Given the description of an element on the screen output the (x, y) to click on. 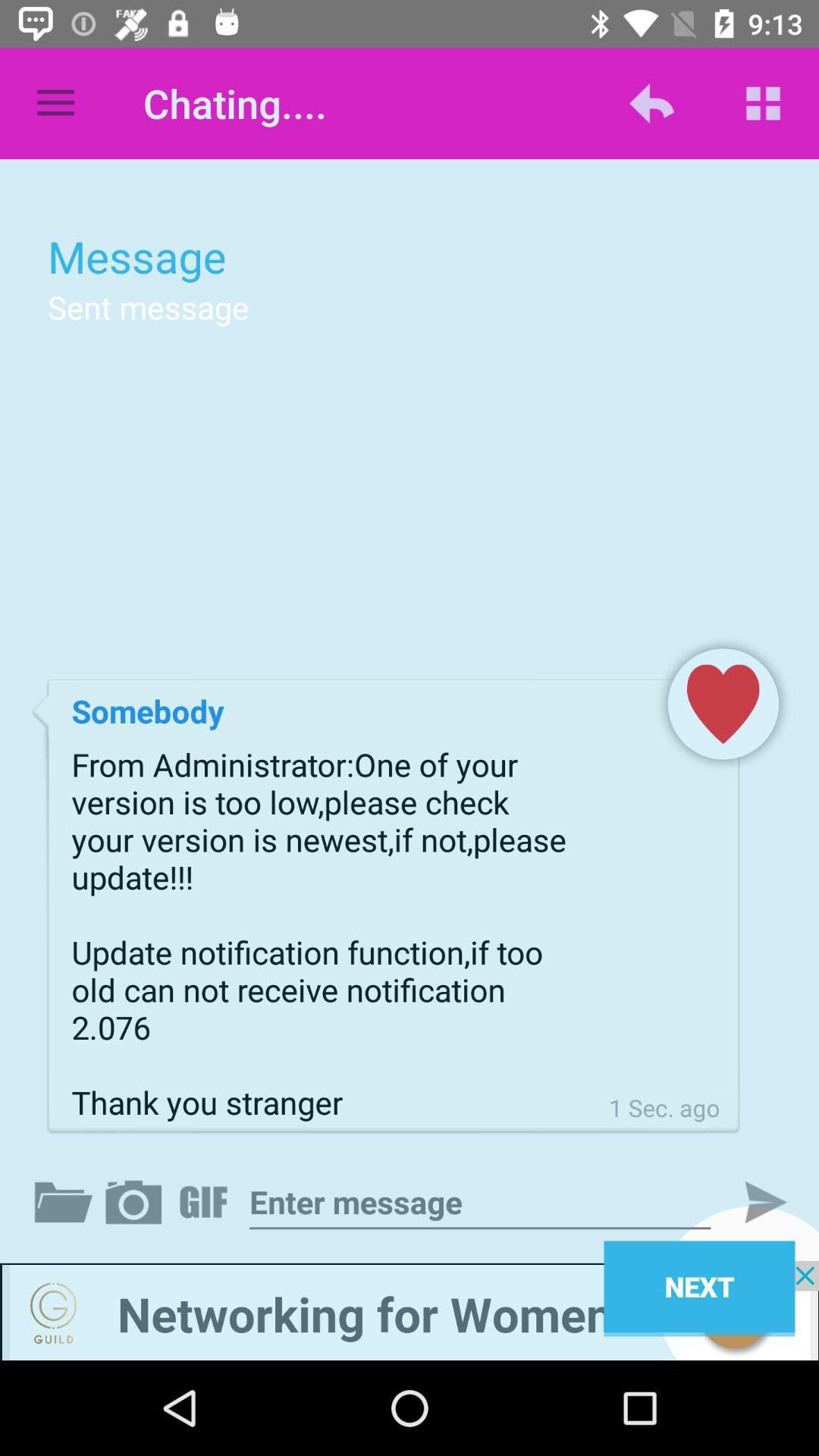
choose gif upload (206, 1202)
